Given the description of an element on the screen output the (x, y) to click on. 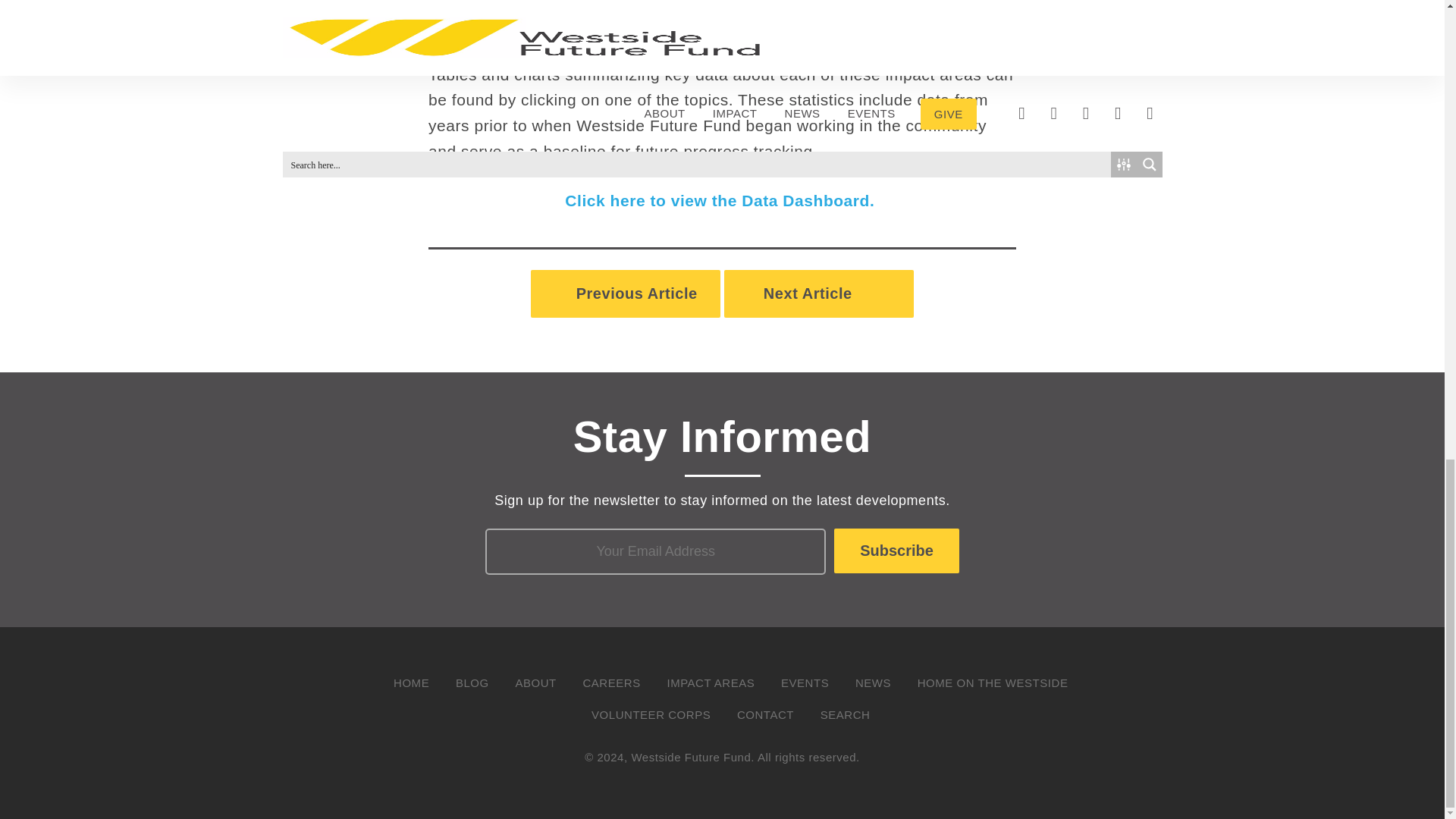
Subscribe (896, 550)
Click here to view the Data Dashboard.  (721, 200)
